Given the description of an element on the screen output the (x, y) to click on. 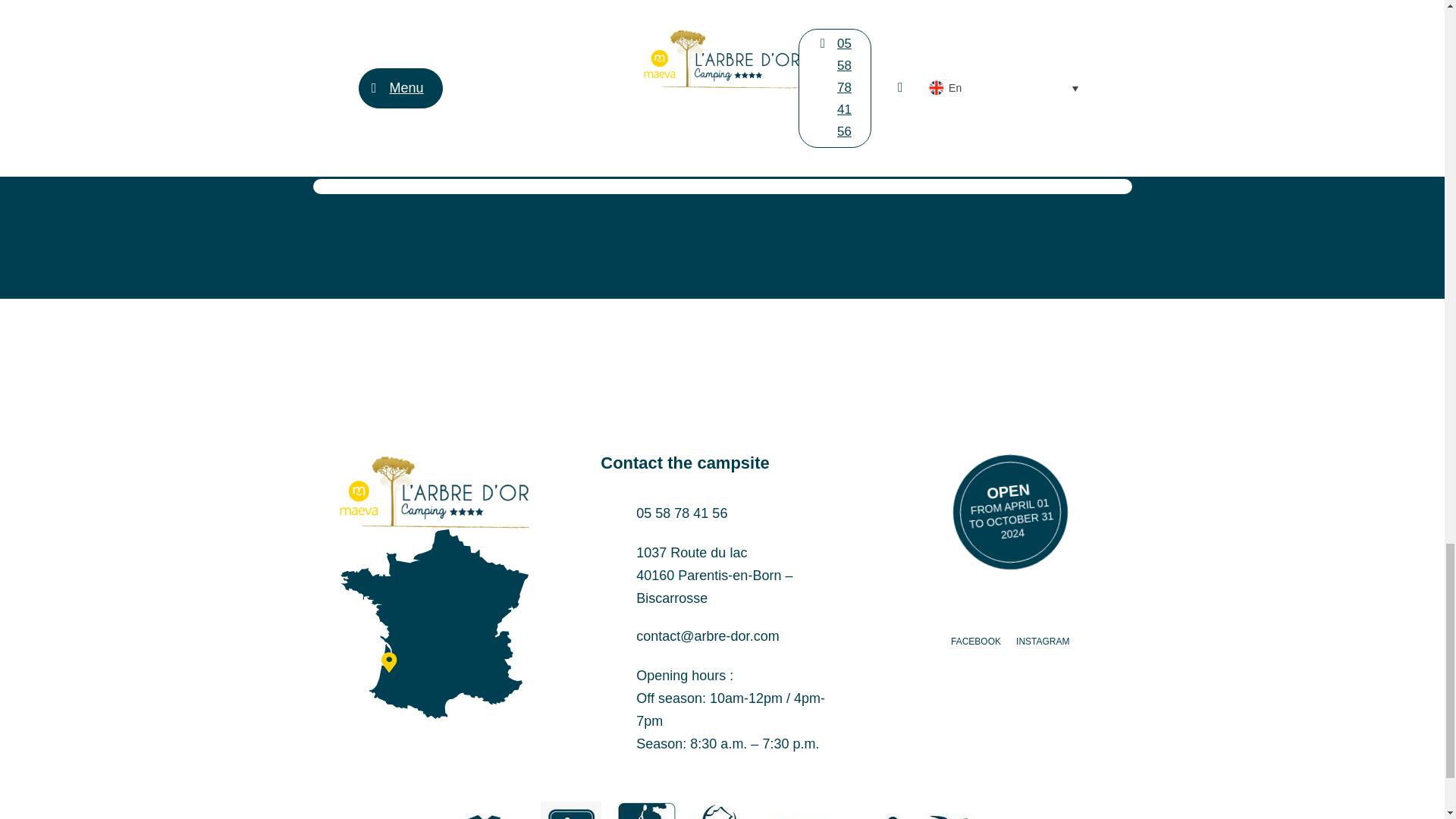
Logos Maeva Arbre Dor Mobile (434, 491)
Camping Bord De Lac Biscarrosse (434, 624)
